Given the description of an element on the screen output the (x, y) to click on. 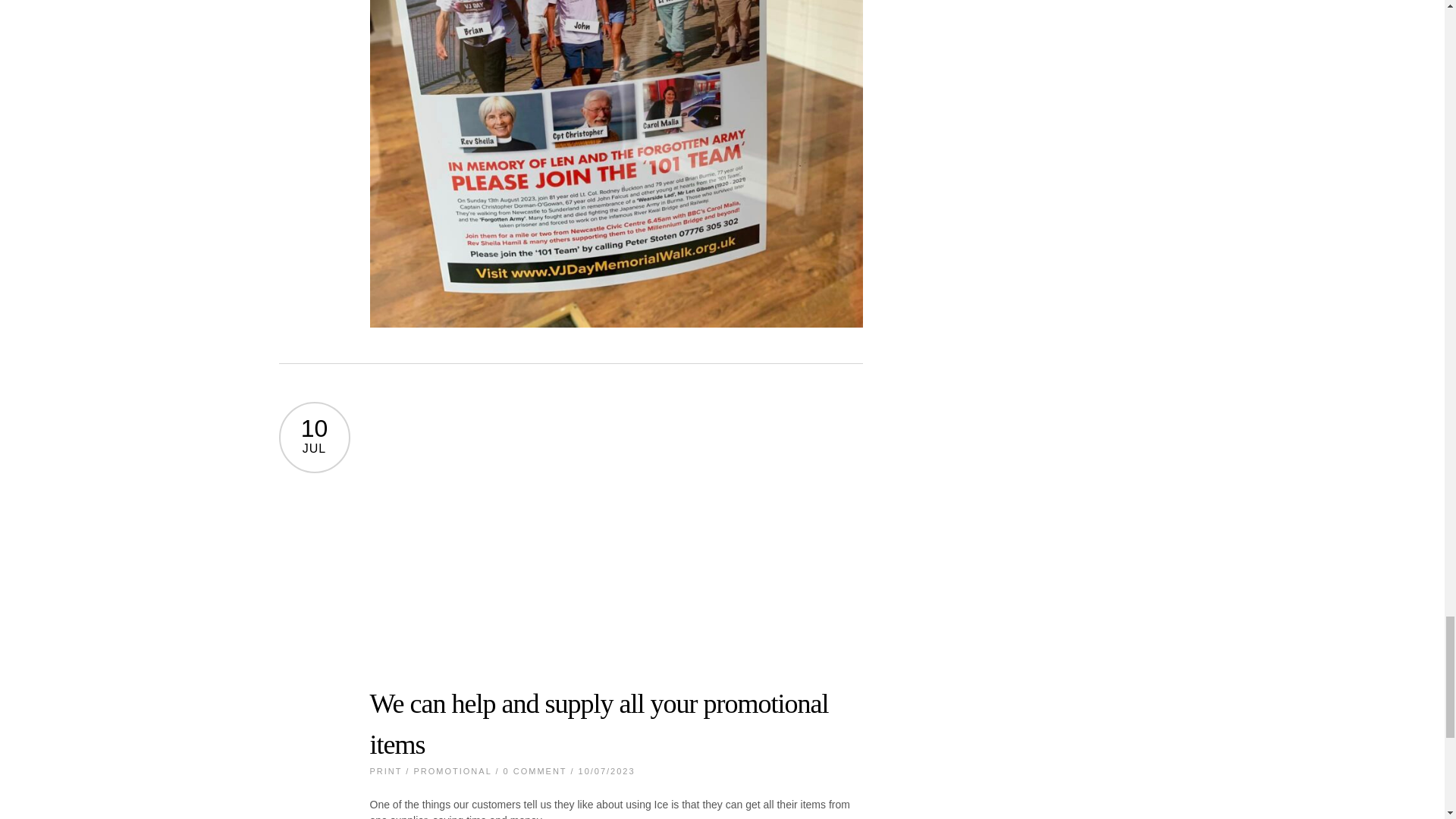
We can help and supply all your promotional items (598, 724)
